Given the description of an element on the screen output the (x, y) to click on. 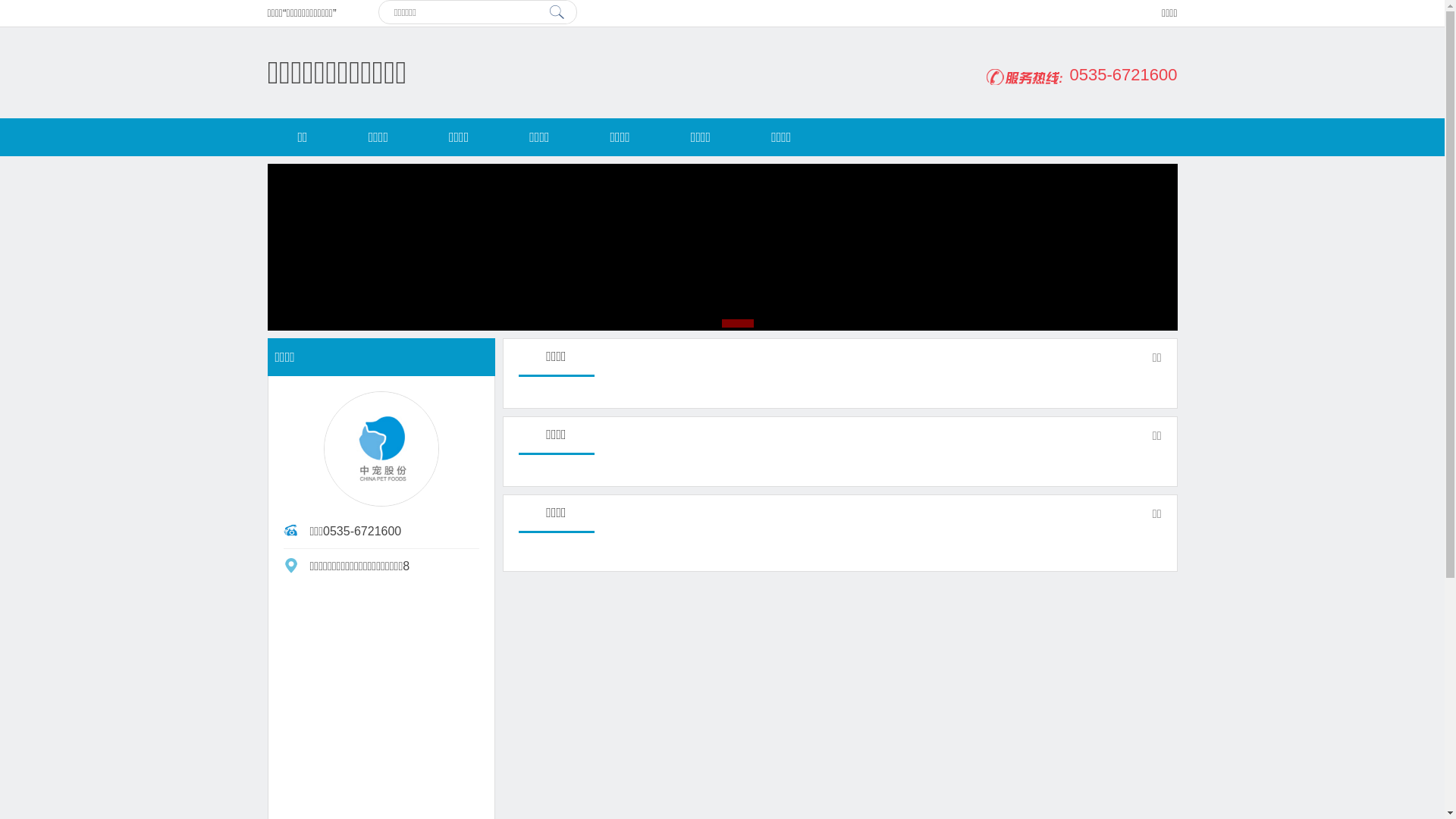
  Element type: text (557, 11)
